Given the description of an element on the screen output the (x, y) to click on. 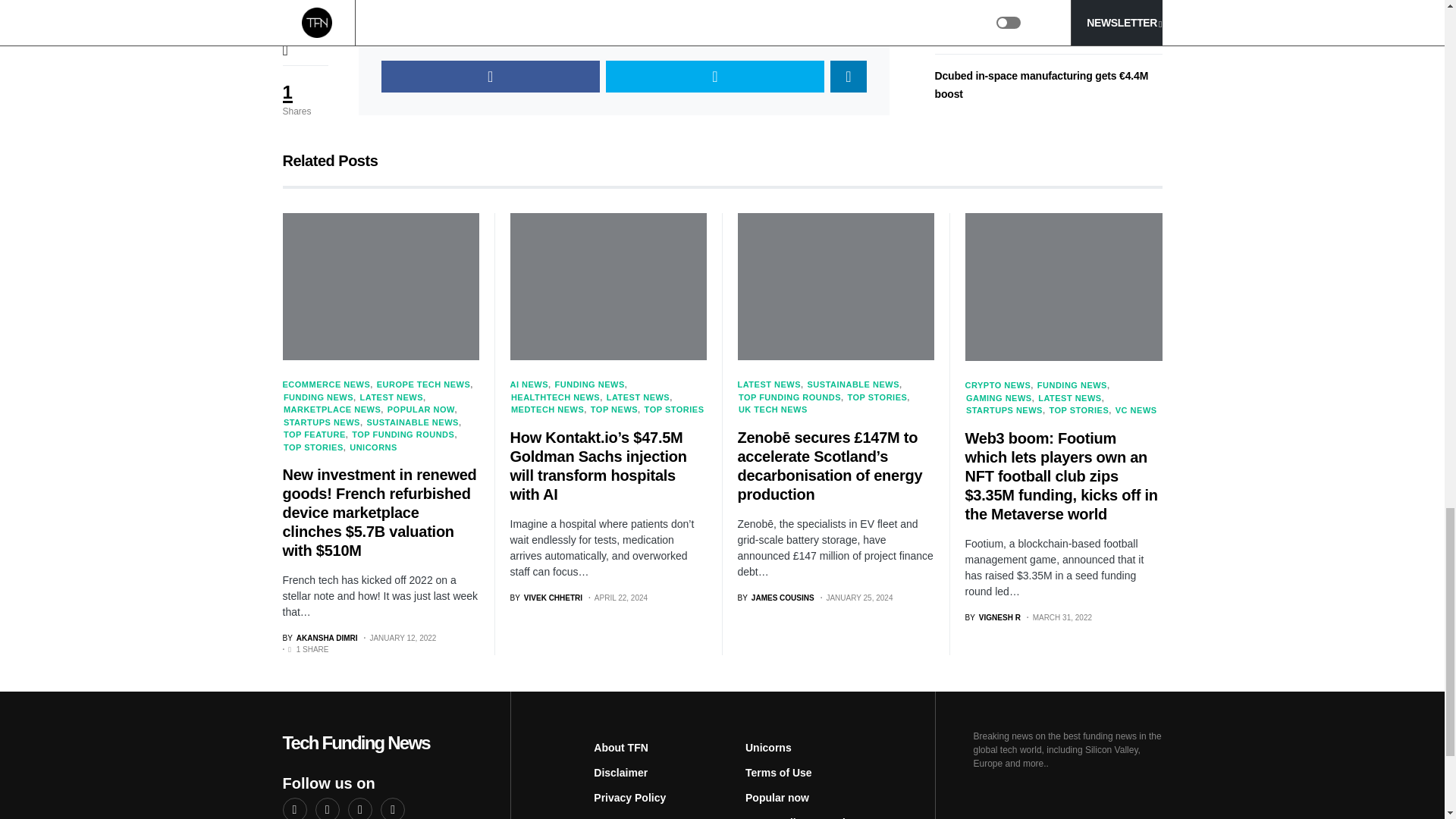
View all posts by Akansha Dimri (319, 637)
View all posts by James Cousins (774, 597)
View all posts by Vignesh R (991, 617)
View all posts by Vivek Chhetri (545, 597)
